Given the description of an element on the screen output the (x, y) to click on. 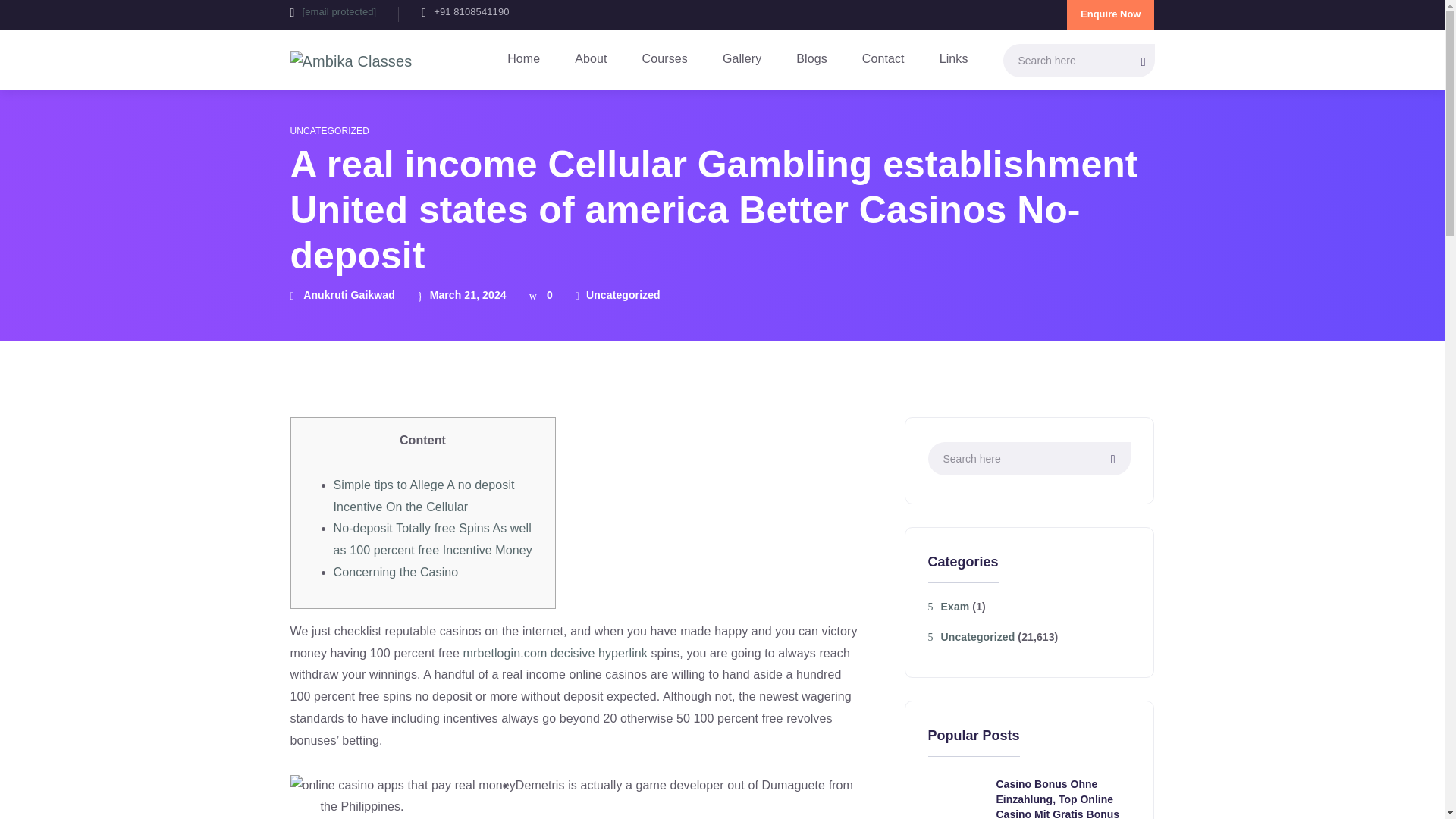
Concerning the Casino (395, 571)
Simple tips to Allege A no deposit Incentive On the Cellular (424, 495)
Uncategorized (618, 295)
Uncategorized (971, 637)
Exam (948, 607)
Enquire Now (1110, 15)
Anukruti Gaikwad (341, 295)
March 21, 2024 (461, 295)
mrbetlogin.com decisive hyperlink (555, 653)
0 (541, 295)
UNCATEGORIZED (328, 131)
